Given the description of an element on the screen output the (x, y) to click on. 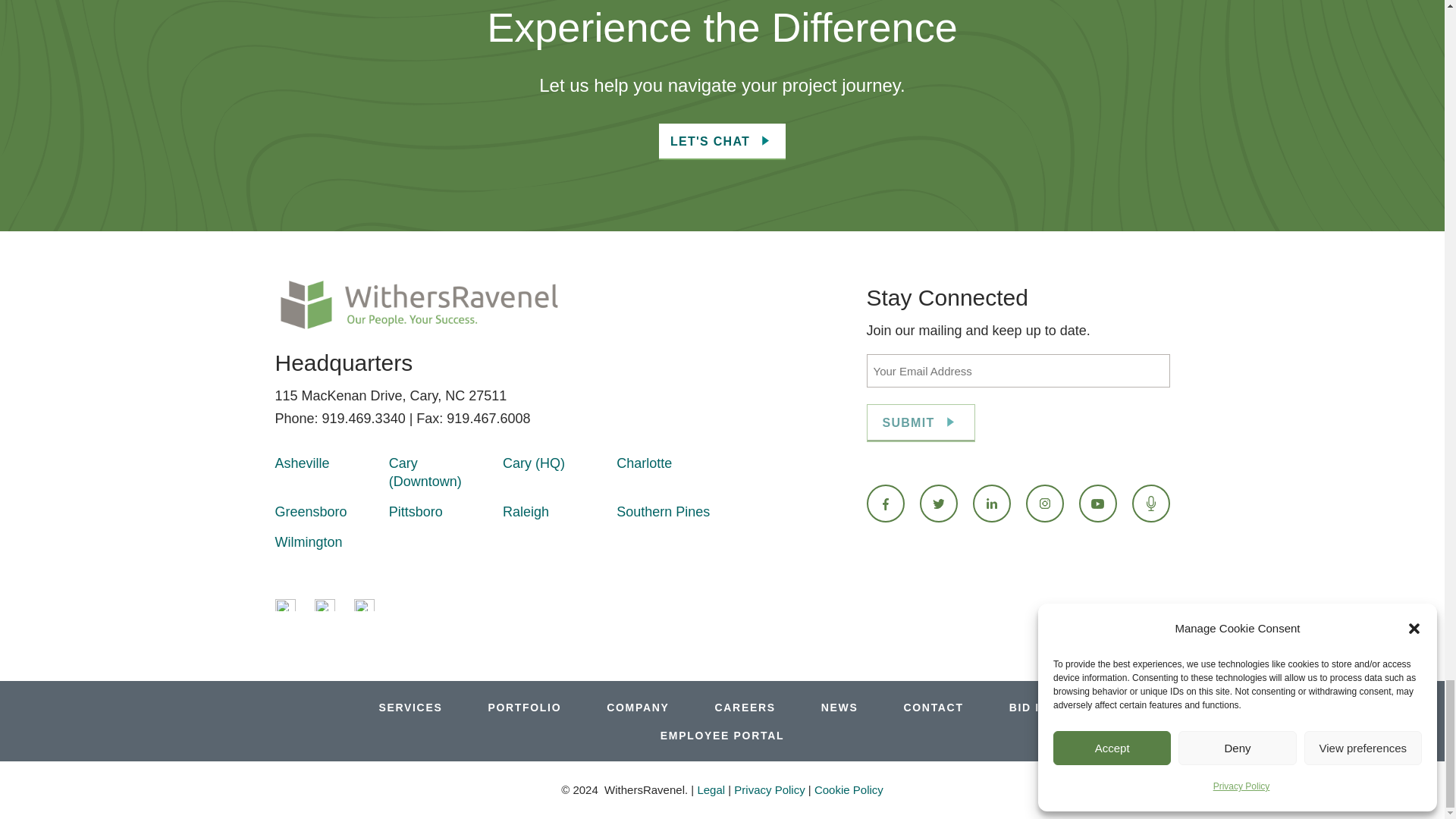
Visit Home Page (418, 304)
